Given the description of an element on the screen output the (x, y) to click on. 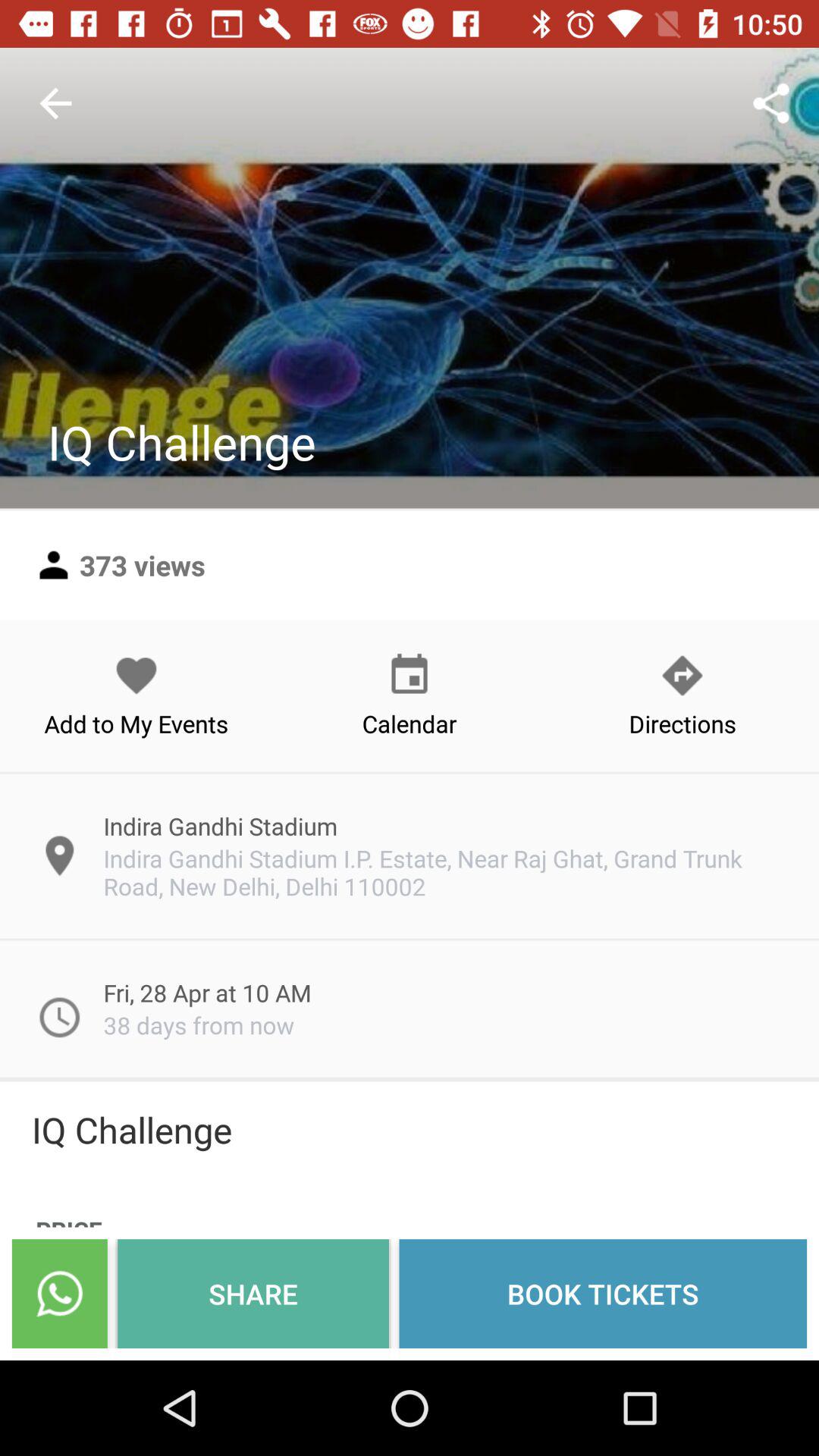
turn off book tickets icon (603, 1293)
